Given the description of an element on the screen output the (x, y) to click on. 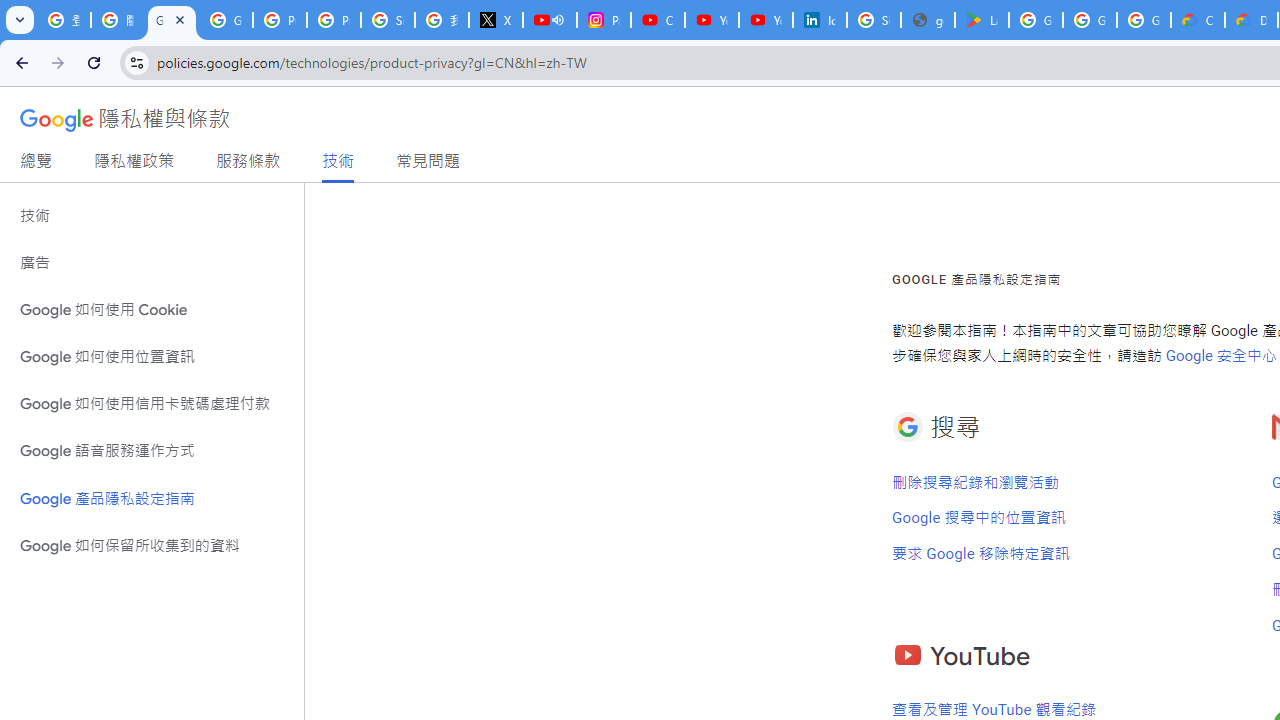
Privacy Help Center - Policies Help (280, 20)
Last Shelter: Survival - Apps on Google Play (981, 20)
Google Workspace - Specific Terms (1089, 20)
Sign in - Google Accounts (387, 20)
Customer Care | Google Cloud (1197, 20)
